Given the description of an element on the screen output the (x, y) to click on. 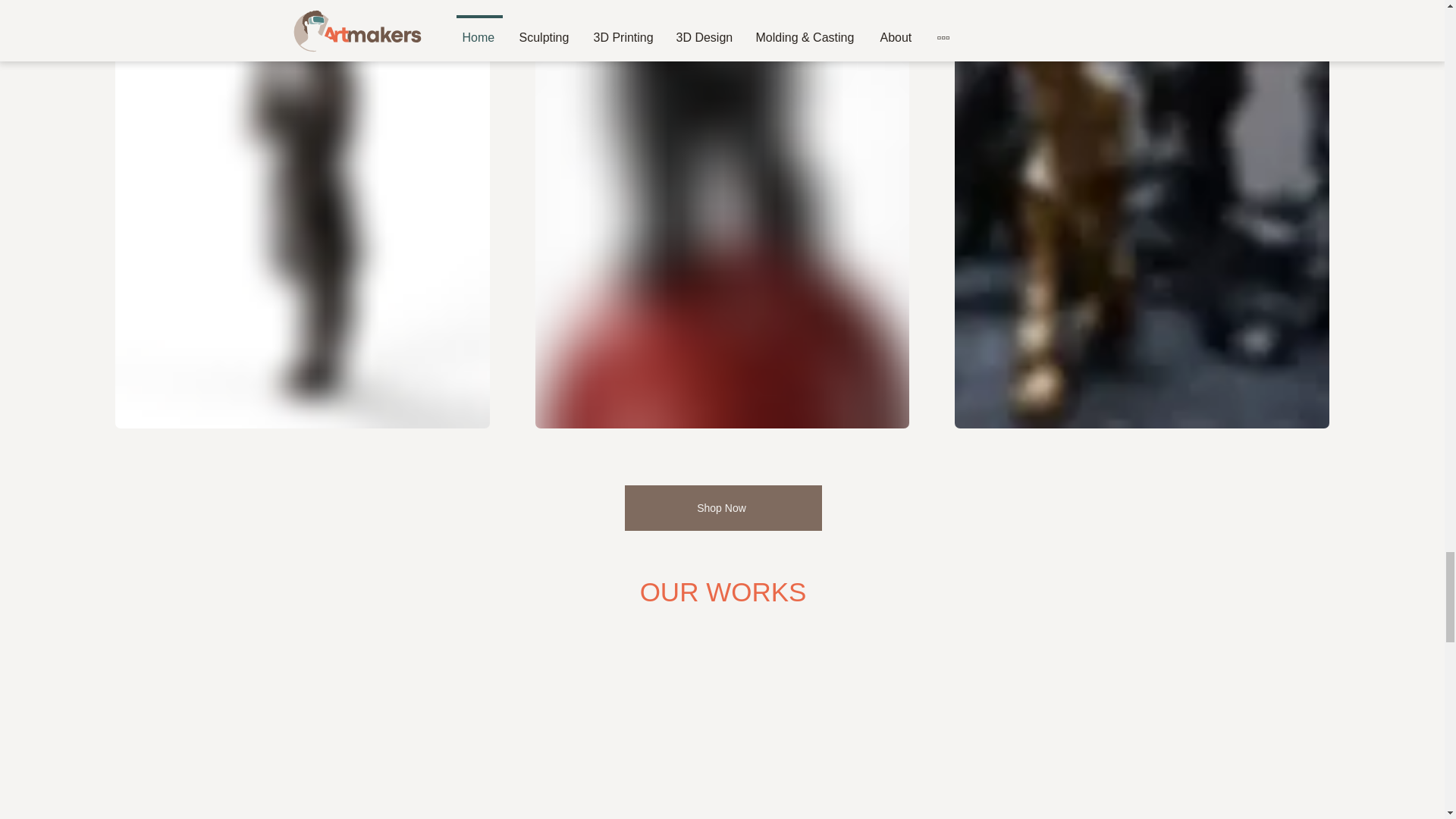
Shop Now (723, 507)
